Given the description of an element on the screen output the (x, y) to click on. 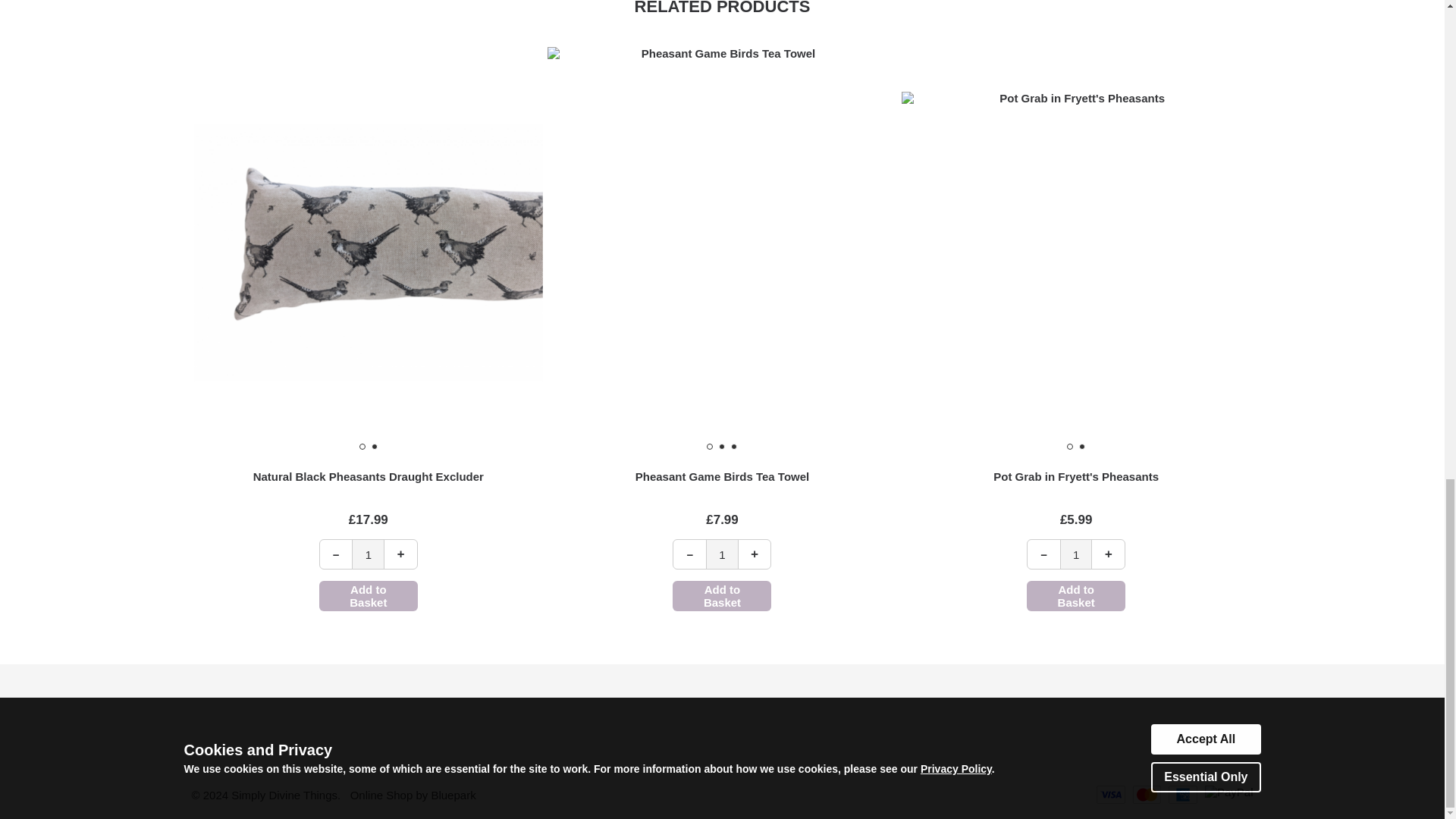
Natural Black Pheasants Draught Excluder (368, 476)
1 (368, 553)
1 (1076, 553)
1 (722, 553)
